Given the description of an element on the screen output the (x, y) to click on. 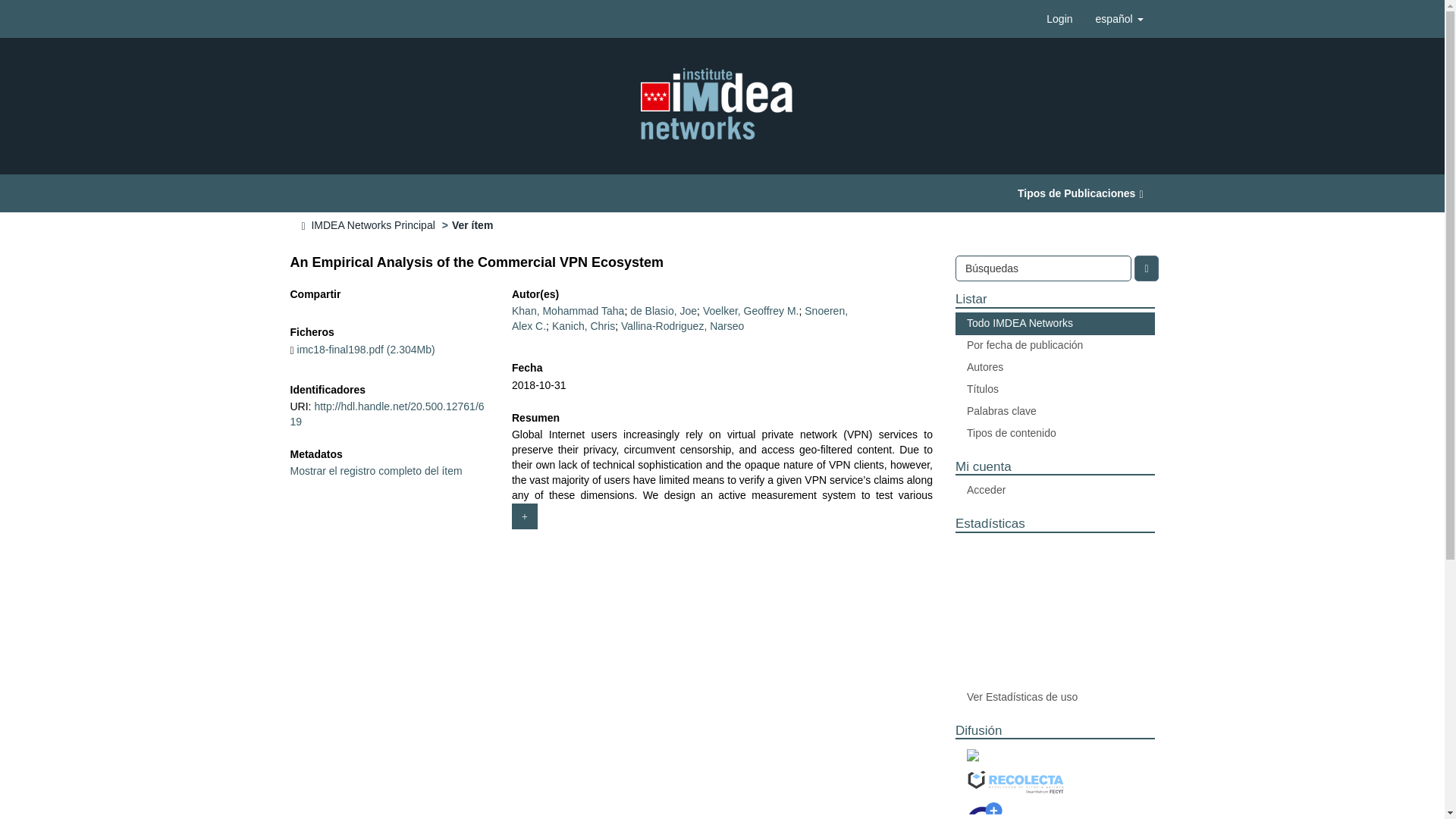
Kanich, Chris (582, 326)
IMDEA Networks Principal (372, 224)
Ir (1145, 268)
Voelker, Geoffrey M. (751, 310)
Khan, Mohammad Taha (568, 310)
Login (1059, 18)
Vallina-Rodriguez, Narseo (682, 326)
de Blasio, Joe (663, 310)
Tipos de Publicaciones (1080, 193)
Snoeren, Alex C. (679, 318)
